Given the description of an element on the screen output the (x, y) to click on. 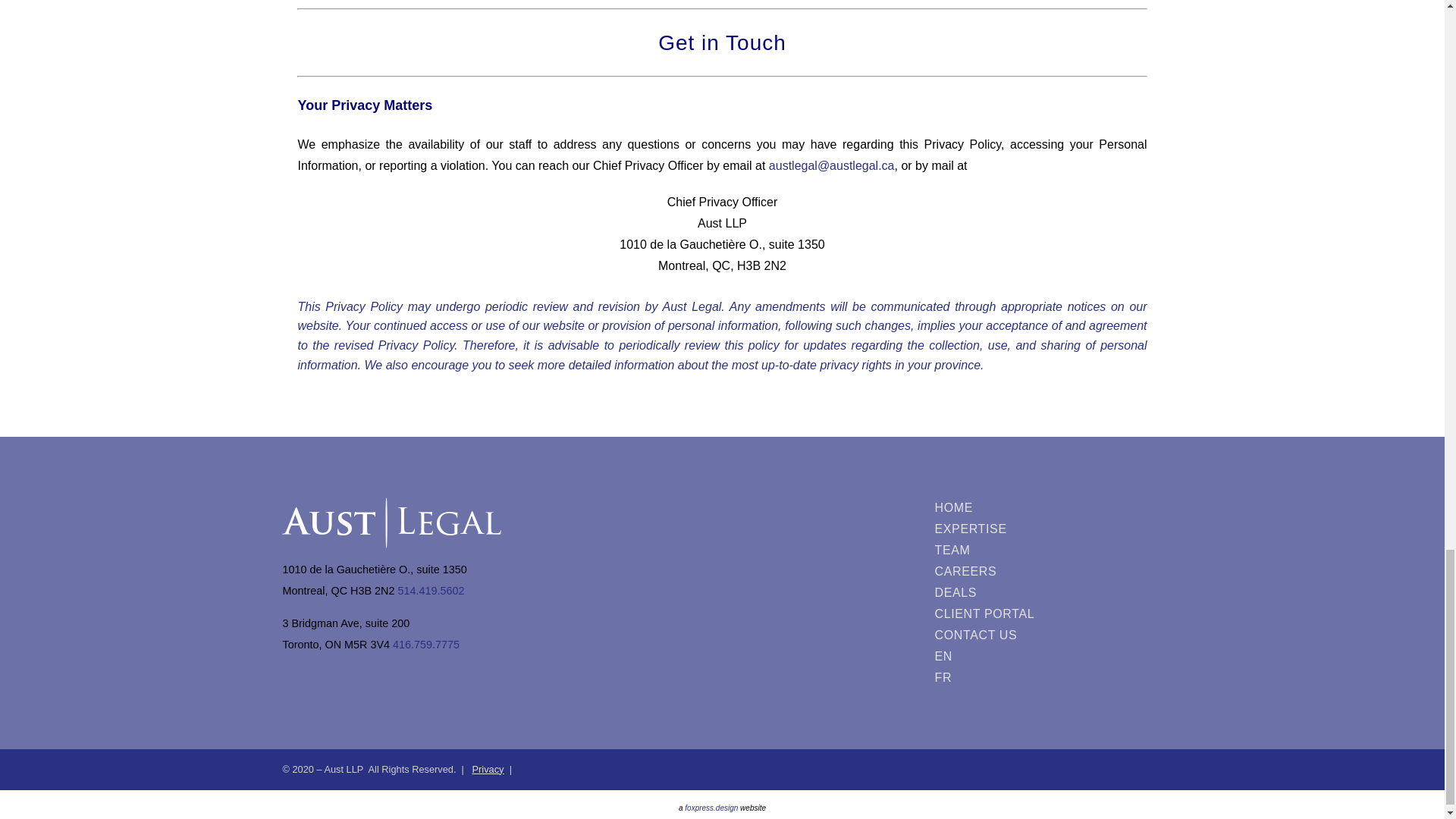
CONTACT US (987, 635)
514.419.5602 (430, 590)
Privacy (487, 768)
EXPERTISE (987, 528)
416.759.7775 (426, 644)
HOME (987, 507)
TEAM (987, 550)
EN (987, 656)
FR (987, 677)
foxpress.design (711, 807)
DEALS (987, 592)
CLIENT PORTAL (987, 613)
CAREERS (987, 571)
